Given the description of an element on the screen output the (x, y) to click on. 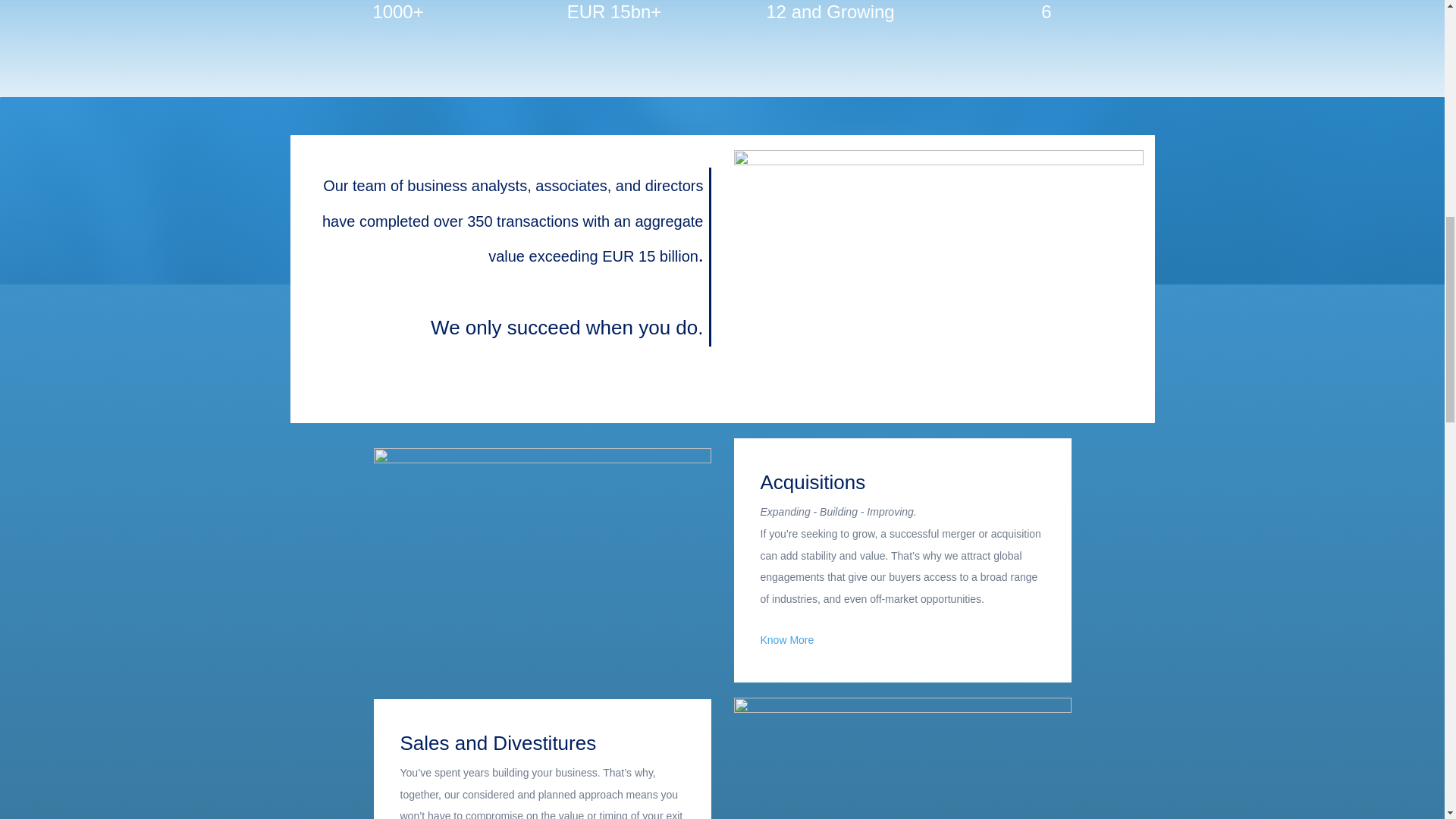
Know More (786, 640)
